Given the description of an element on the screen output the (x, y) to click on. 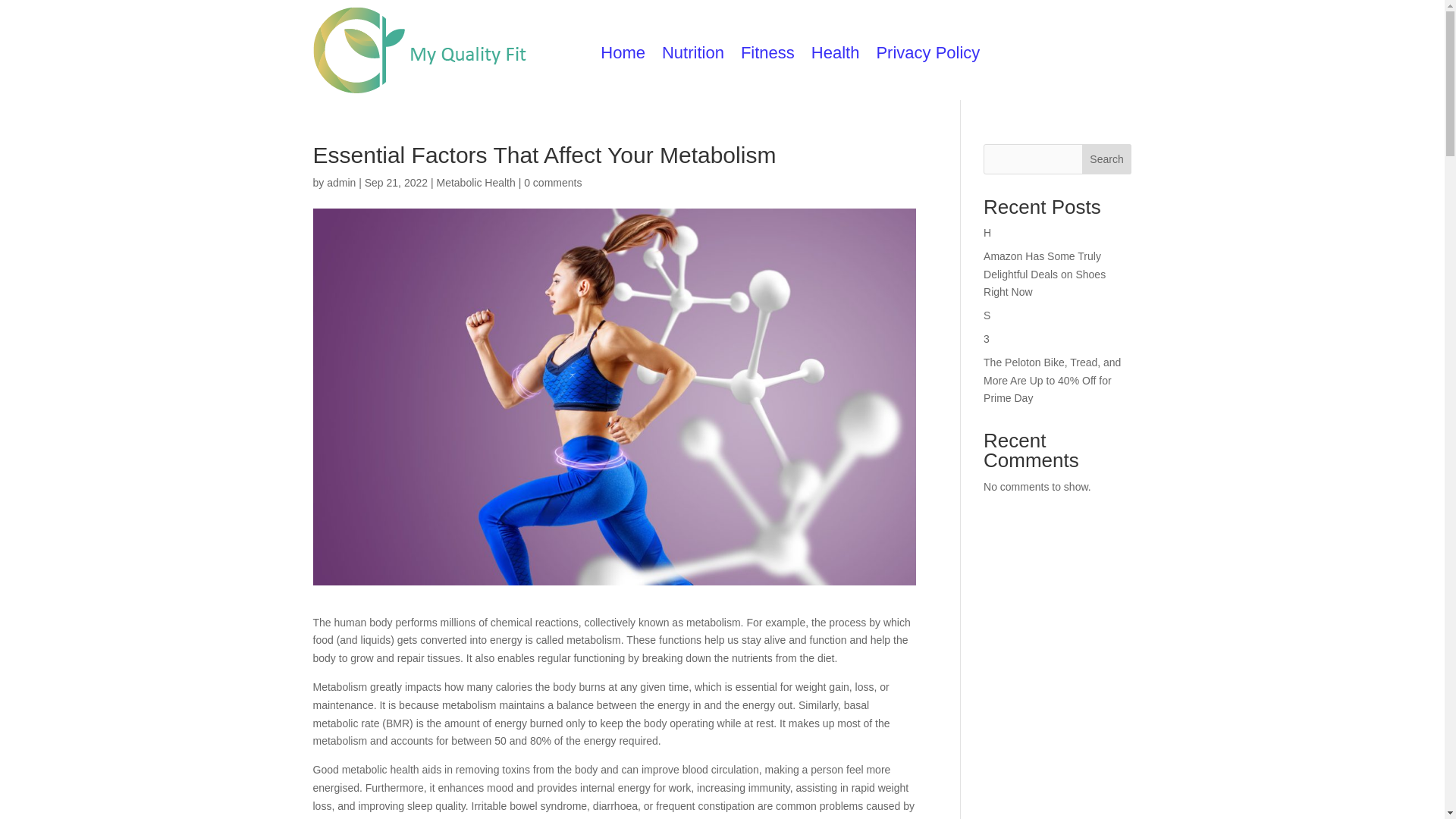
admin (340, 182)
Privacy Policy (927, 55)
Search (1106, 159)
Nutrition (692, 55)
Fitness (767, 55)
Home (622, 55)
Amazon Has Some Truly Delightful Deals on Shoes Right Now (1044, 274)
Posts by admin (340, 182)
0 comments (552, 182)
Metabolic Health (475, 182)
Health (835, 55)
